Given the description of an element on the screen output the (x, y) to click on. 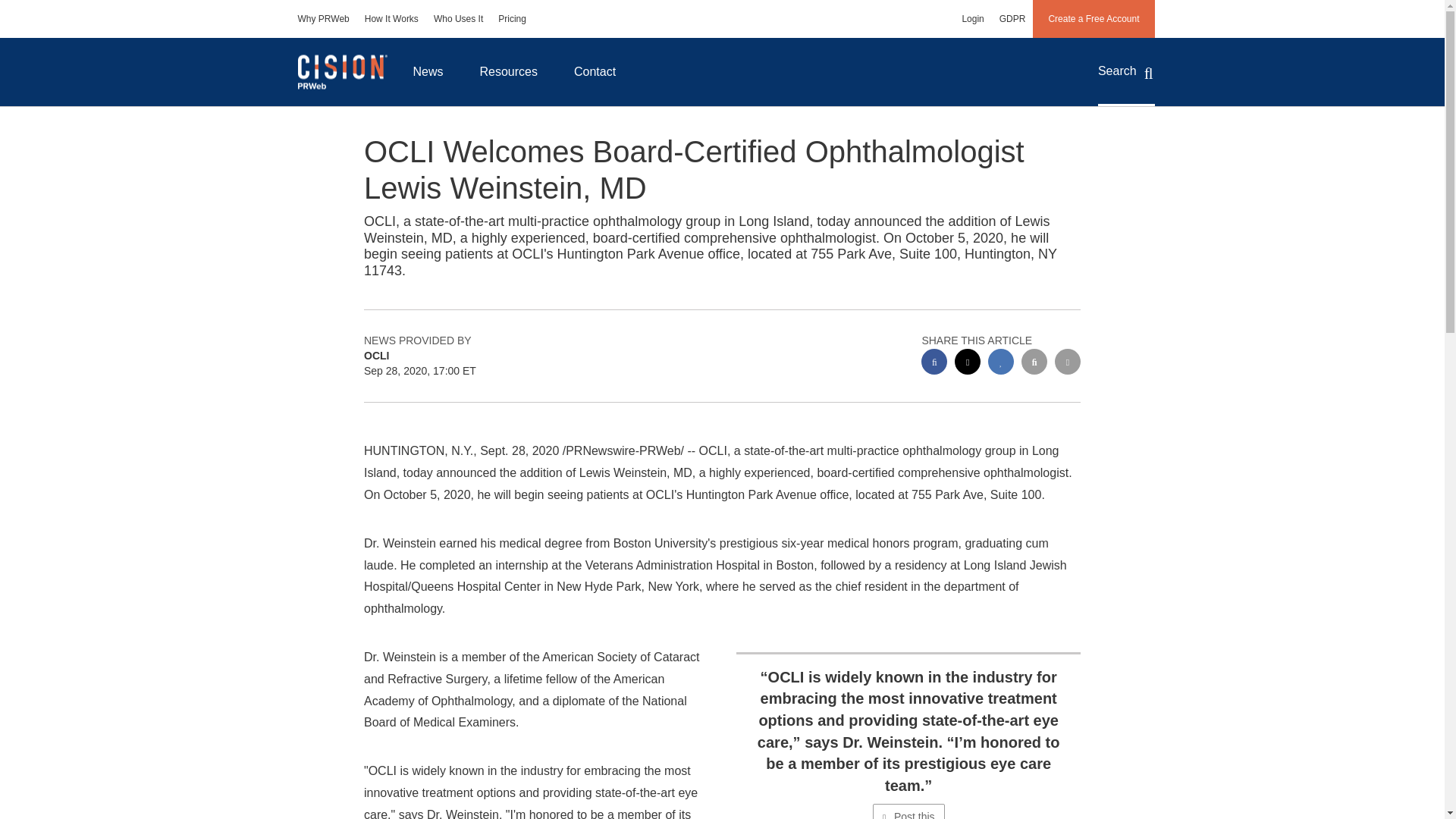
GDPR (1012, 18)
Login (972, 18)
Who Uses It (458, 18)
How It Works (391, 18)
Pricing (512, 18)
Resources (508, 71)
News (427, 71)
Create a Free Account (1093, 18)
Why PRWeb (322, 18)
